Given the description of an element on the screen output the (x, y) to click on. 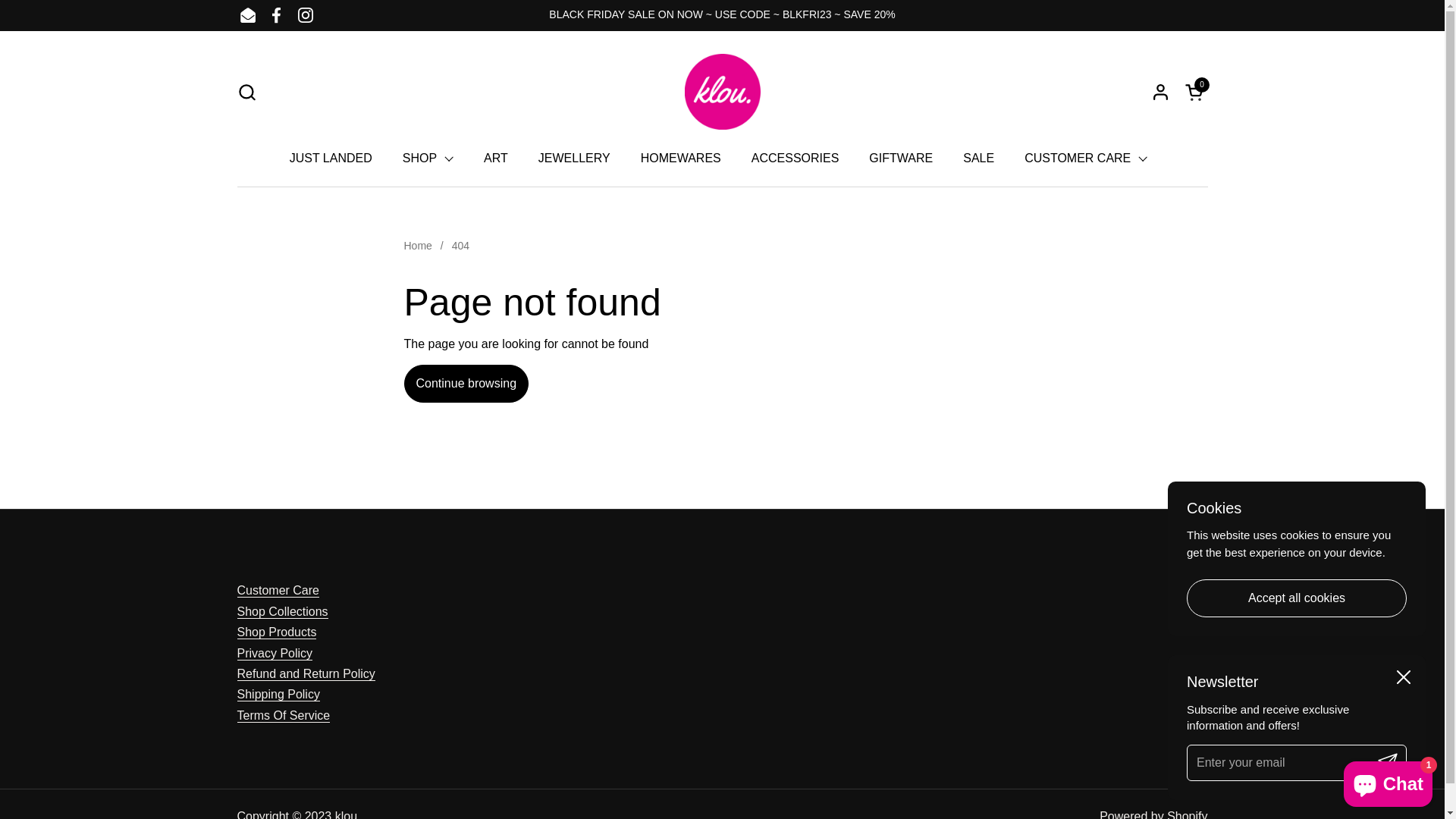
Refund and Return Policy Element type: text (305, 673)
Close Element type: text (1403, 679)
Facebook Element type: text (276, 14)
CUSTOMER CARE Element type: text (1085, 158)
BLACK FRIDAY SALE ON NOW ~ USE CODE ~ BLKFRI23 ~ SAVE 20% Element type: text (721, 14)
Terms Of Service Element type: text (282, 715)
JUST LANDED Element type: text (330, 158)
JEWELLERY Element type: text (574, 158)
SHOP Element type: text (427, 158)
Skip to content Element type: text (0, 0)
Privacy Policy Element type: text (274, 653)
Accept all cookies Element type: text (1296, 598)
GIFTWARE Element type: text (900, 158)
Customer Care Element type: text (277, 590)
SALE Element type: text (978, 158)
Open cart
0 Element type: text (1195, 90)
Submit Element type: text (1387, 762)
klou Element type: hover (721, 91)
Home Element type: text (417, 246)
Shipping Policy Element type: text (277, 694)
Shop Products Element type: text (276, 632)
Shop Collections Element type: text (281, 611)
HOMEWARES Element type: text (680, 158)
Continue browsing Element type: text (465, 383)
Shopify online store chat Element type: hover (1388, 780)
Email Element type: text (247, 14)
Instagram Element type: text (305, 14)
ACCESSORIES Element type: text (795, 158)
Open search Element type: hover (245, 90)
ART Element type: text (495, 158)
